Given the description of an element on the screen output the (x, y) to click on. 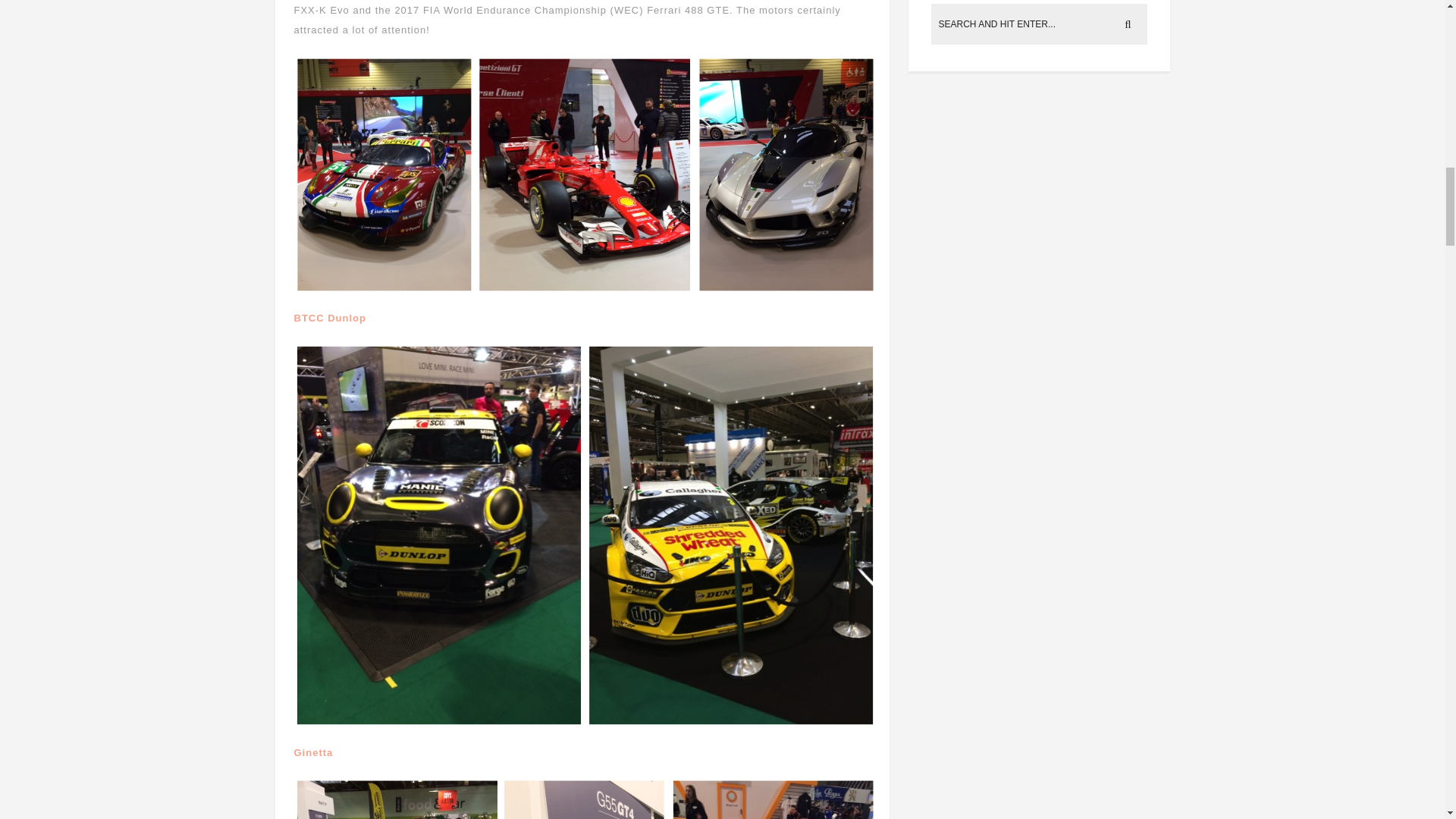
Search and hit enter... (1039, 24)
